Given the description of an element on the screen output the (x, y) to click on. 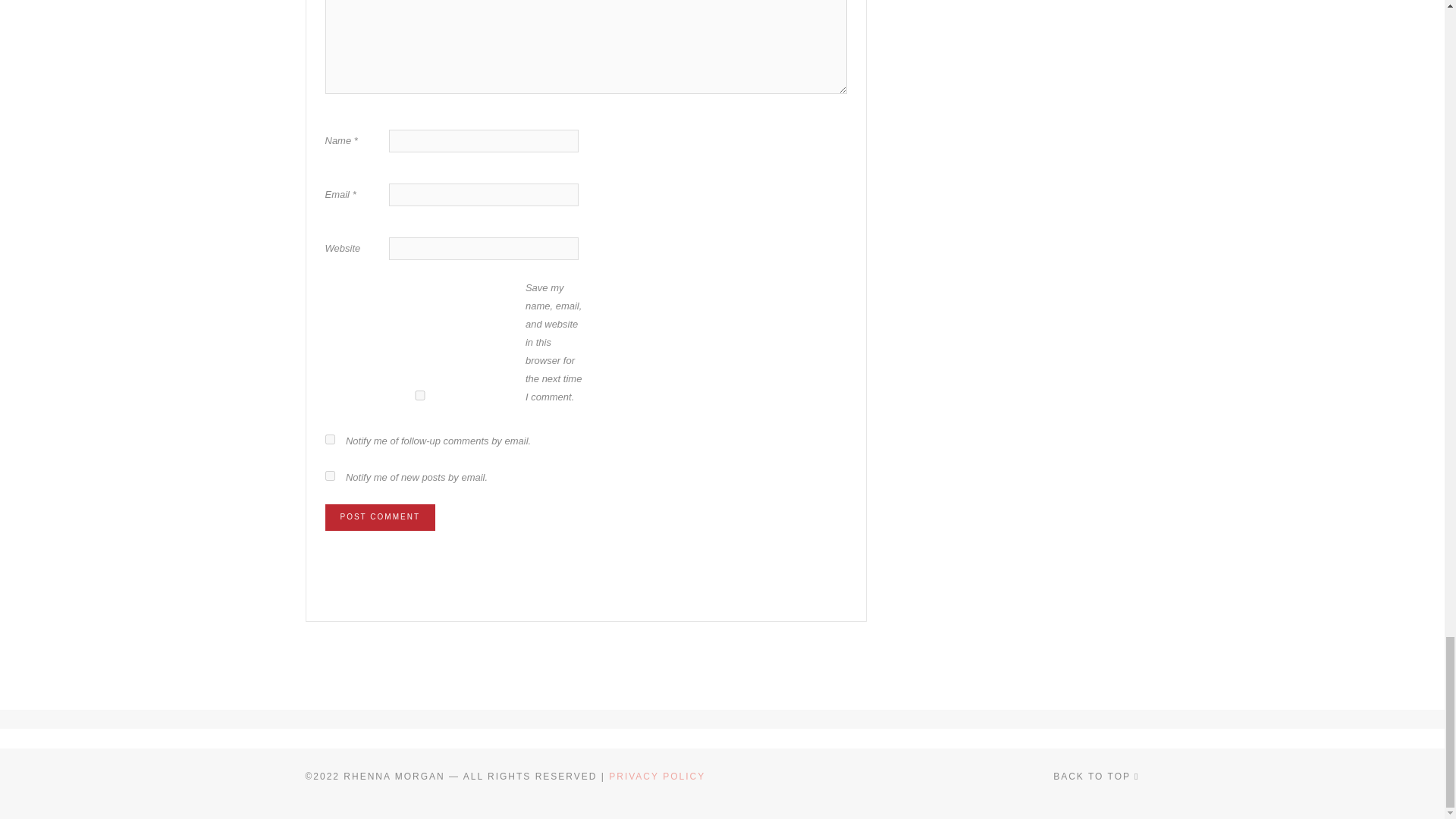
yes (418, 395)
subscribe (329, 439)
Post Comment (378, 517)
subscribe (329, 475)
